Given the description of an element on the screen output the (x, y) to click on. 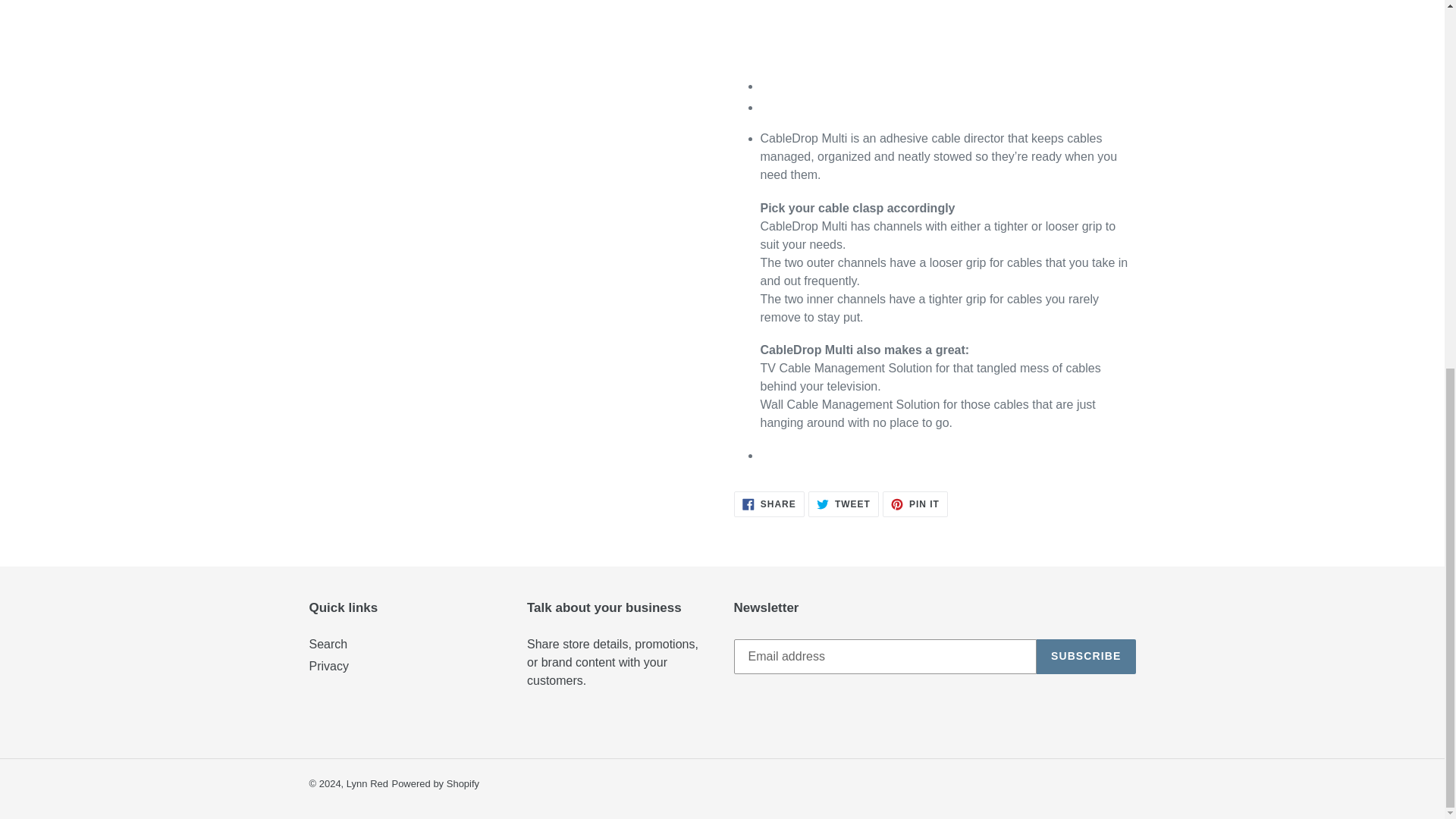
Privacy (843, 503)
Powered by Shopify (328, 666)
Lynn Red (435, 783)
Search (769, 503)
SUBSCRIBE (367, 783)
